Given the description of an element on the screen output the (x, y) to click on. 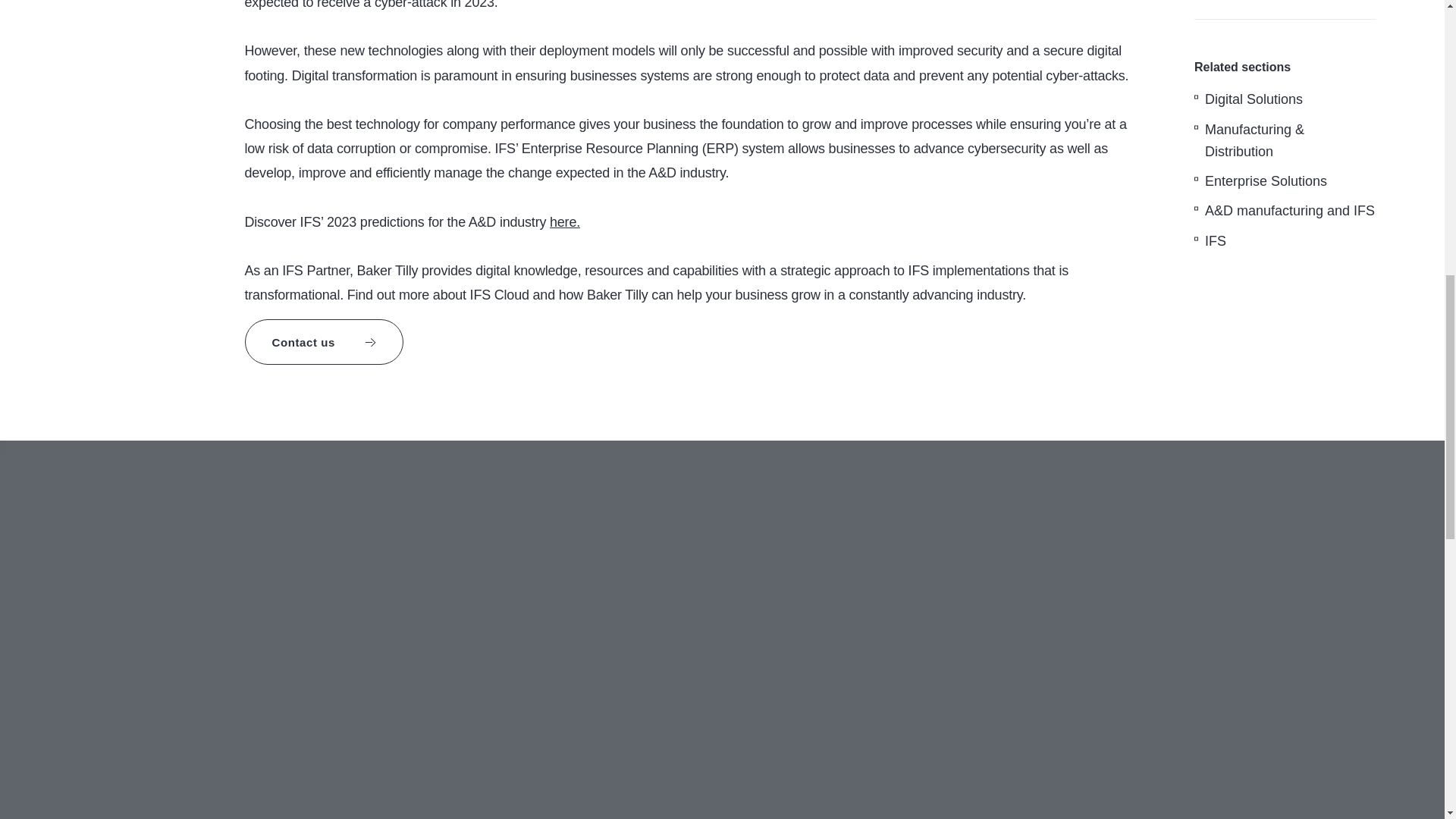
Digital Solutions (1254, 99)
here. (564, 222)
Enterprise Solutions (1265, 181)
Contact us (323, 341)
